Given the description of an element on the screen output the (x, y) to click on. 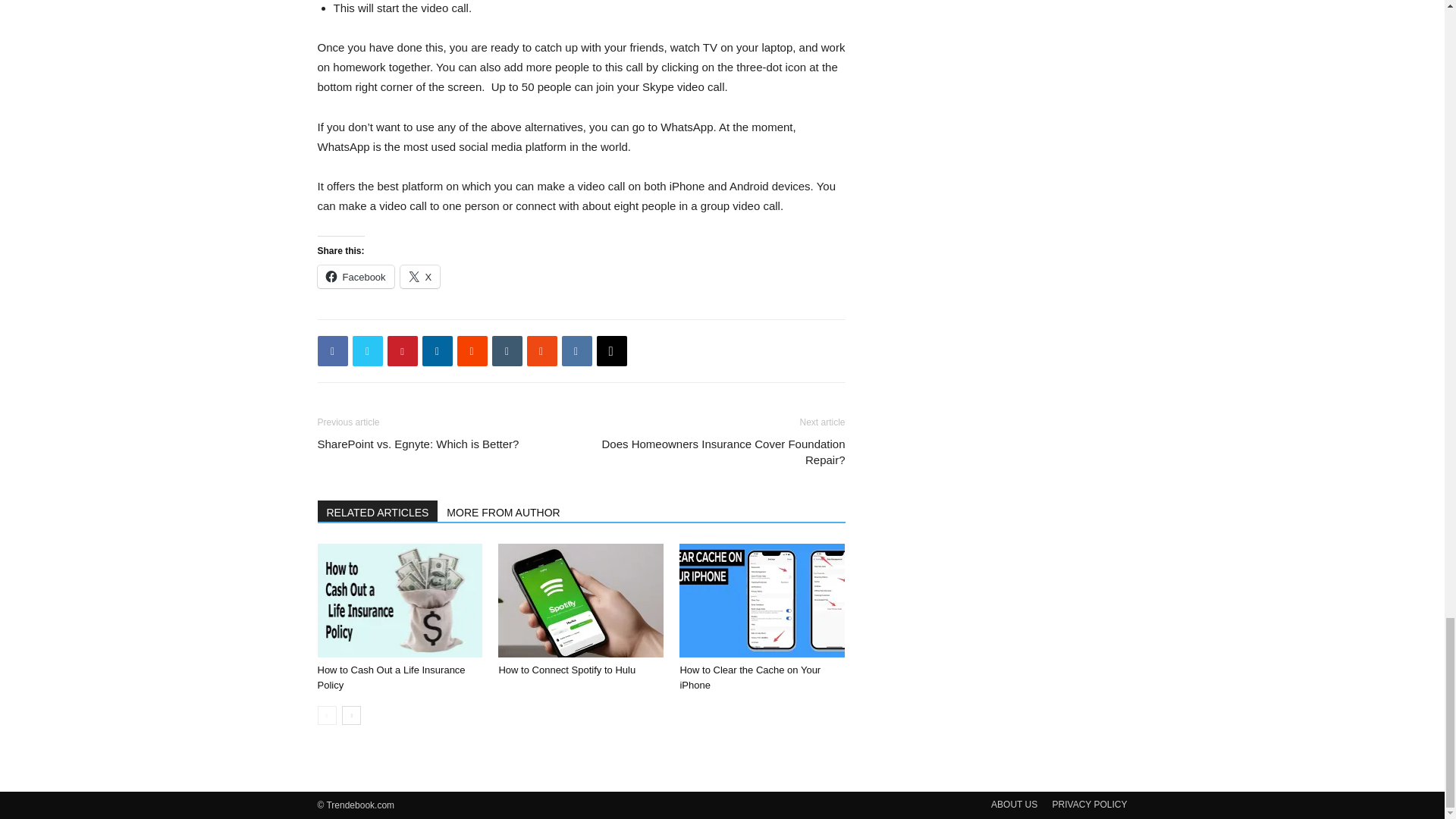
Facebook (355, 276)
How to Cash Out a Life Insurance Policy (399, 600)
Facebook (332, 350)
Twitter (366, 350)
Pinterest (401, 350)
Mix (540, 350)
ReddIt (471, 350)
Tumblr (506, 350)
Digg (610, 350)
Click to share on X (420, 276)
X (420, 276)
Click to share on Facebook (355, 276)
VK (575, 350)
Linkedin (436, 350)
How to Cash Out a Life Insurance Policy (390, 677)
